Given the description of an element on the screen output the (x, y) to click on. 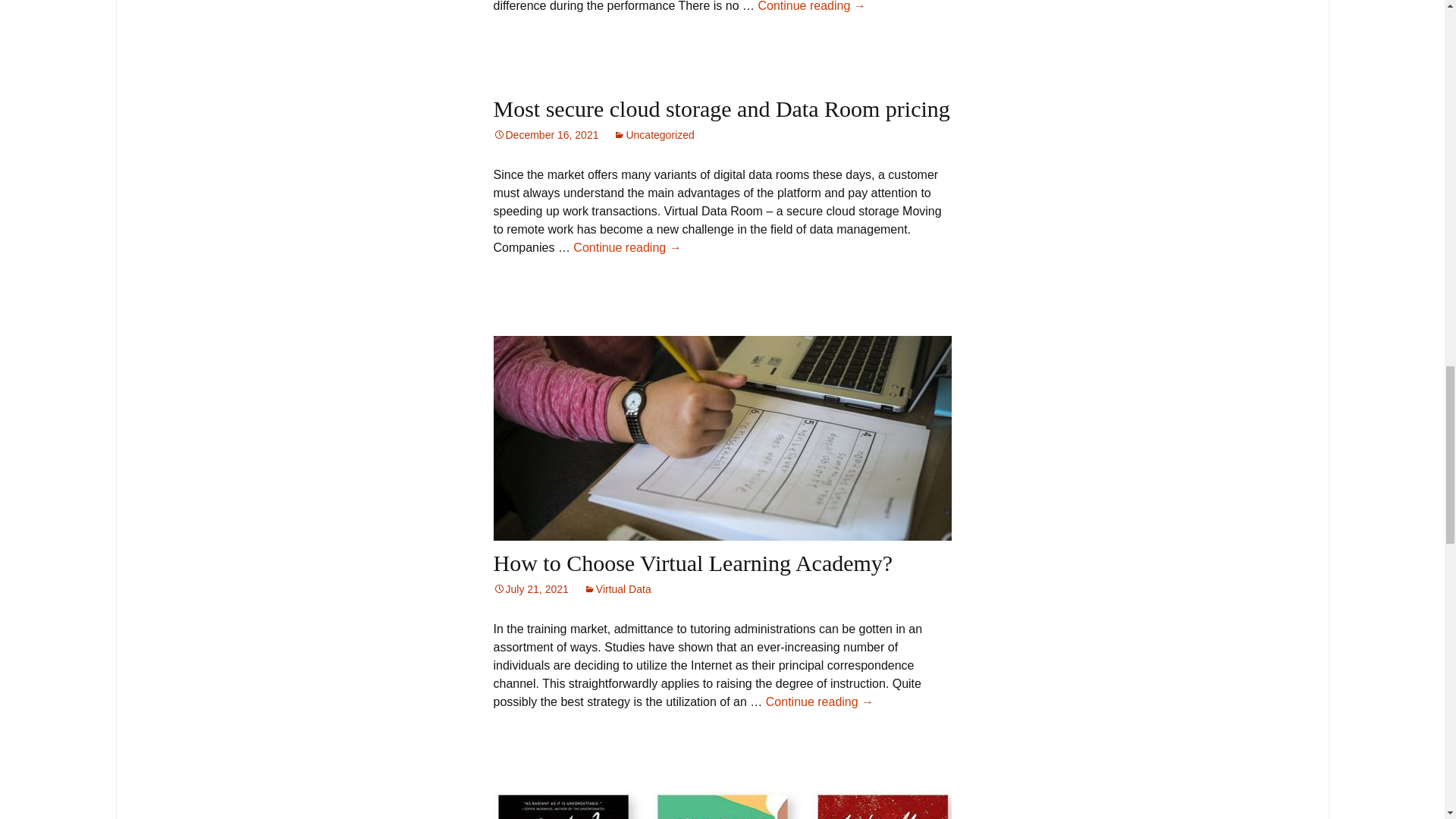
Uncategorized (653, 134)
July 21, 2021 (530, 589)
Permalink to Most secure cloud storage and Data Room pricing (545, 134)
December 16, 2021 (545, 134)
Virtual Data (616, 589)
Most secure cloud storage and Data Room pricing (721, 108)
